Given the description of an element on the screen output the (x, y) to click on. 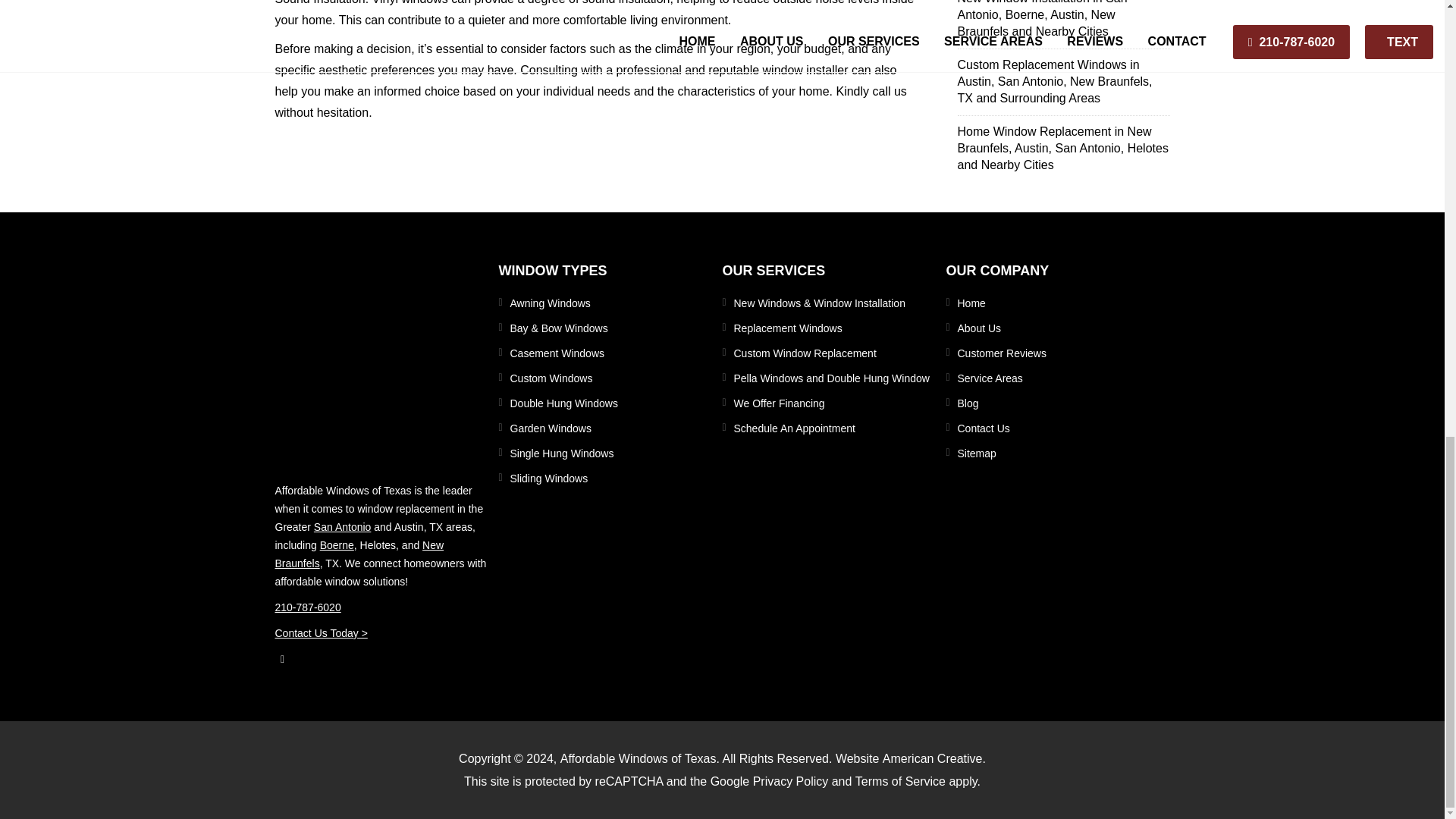
Double Hung Windows (609, 403)
Custom Windows (609, 378)
Awning Windows (609, 302)
Facebook (380, 659)
Sliding Windows (609, 477)
Garden Windows (609, 427)
Boerne (336, 544)
New Braunfels (359, 553)
Casement Windows (609, 353)
